Given the description of an element on the screen output the (x, y) to click on. 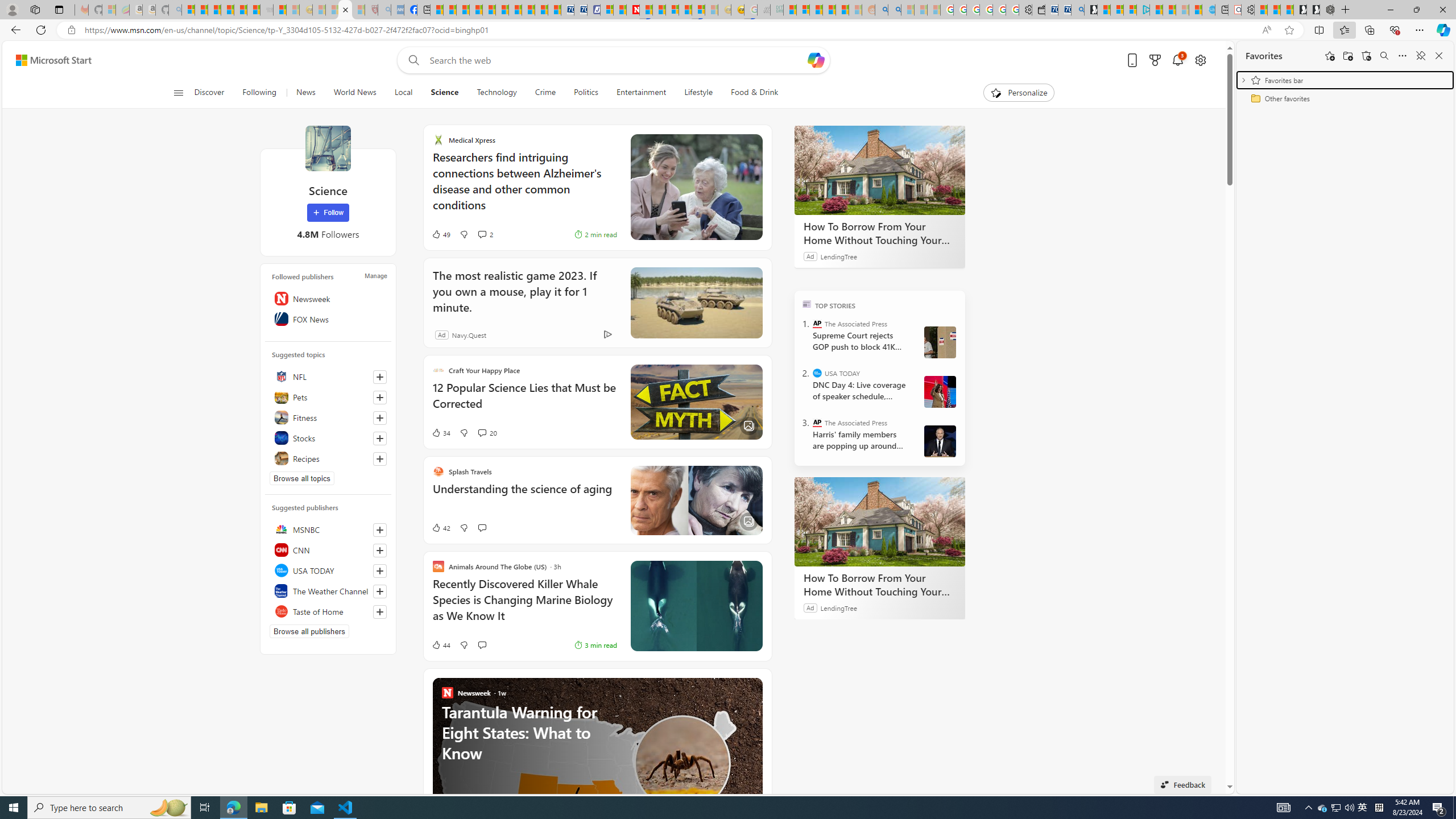
Robert H. Shmerling, MD - Harvard Health - Sleeping (370, 9)
Nordace - Nordace Siena Is Not An Ordinary Backpack (1326, 9)
Search favorites (1383, 55)
